Given the description of an element on the screen output the (x, y) to click on. 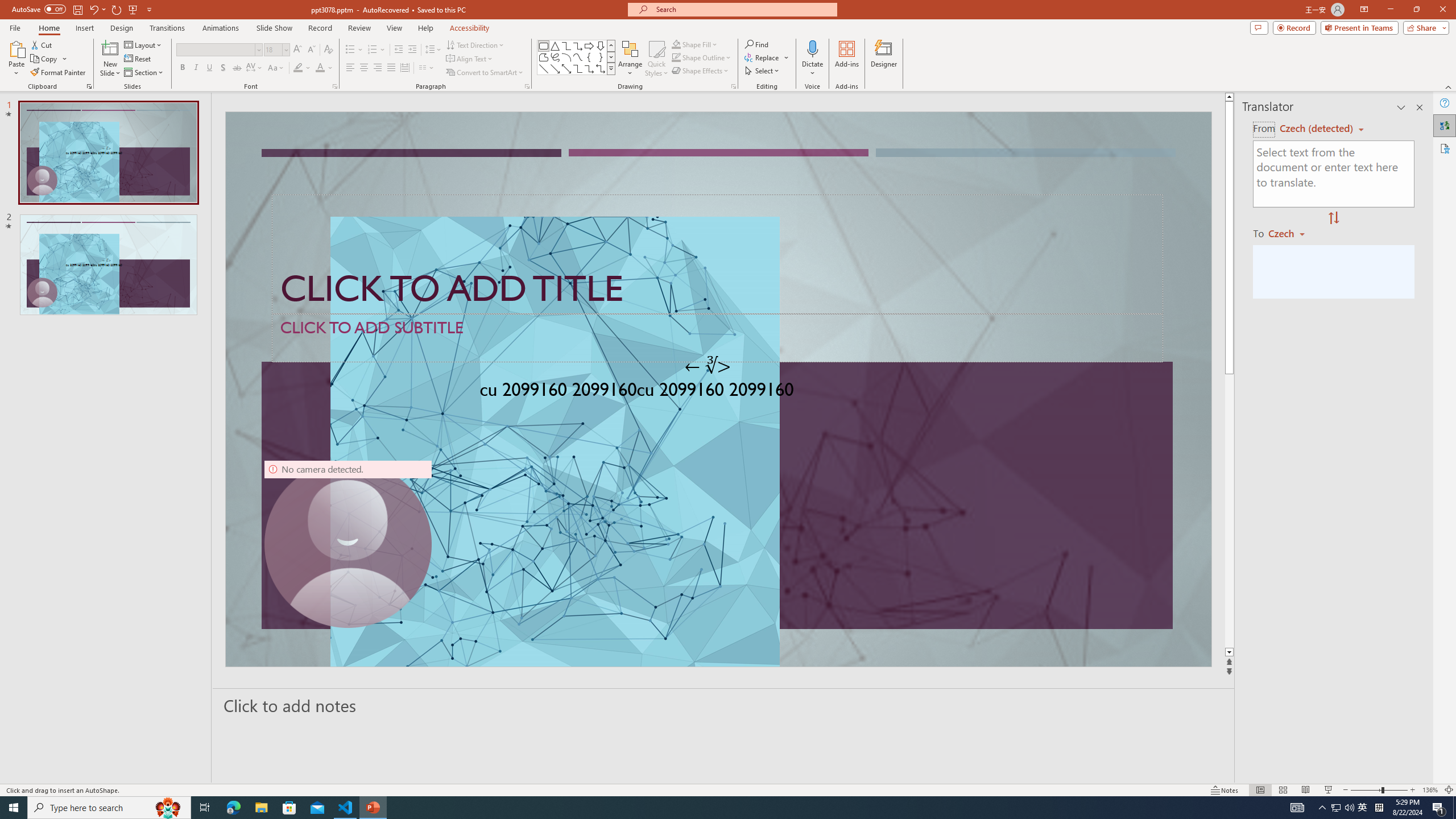
Czech (1291, 232)
